Given the description of an element on the screen output the (x, y) to click on. 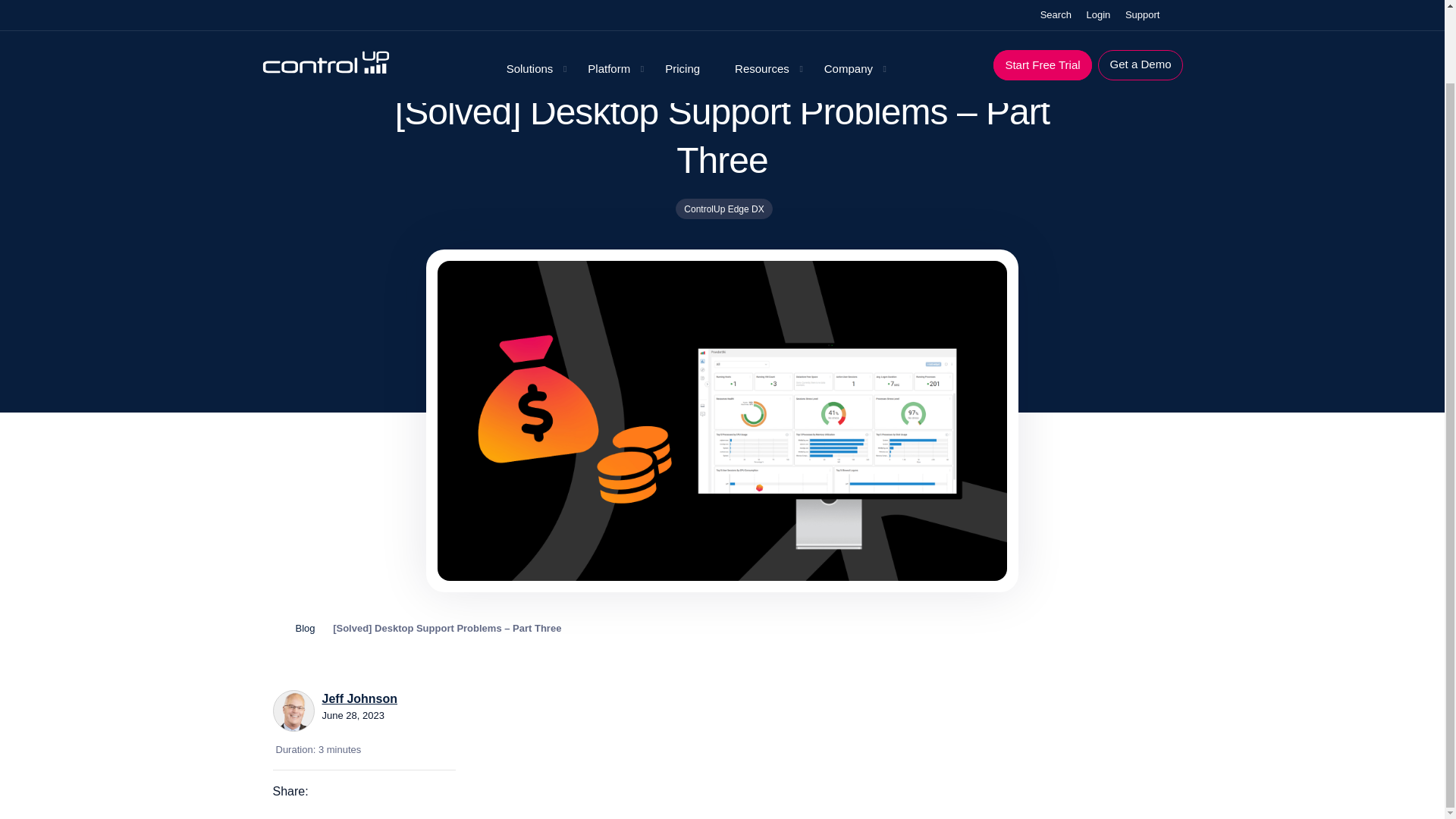
Solutions (529, 1)
Platform (608, 1)
Company (848, 1)
Company (848, 1)
Resources (761, 1)
Solutions (529, 1)
Pricing (682, 1)
Resources (761, 1)
Platform (608, 1)
Pricing (682, 1)
